Given the description of an element on the screen output the (x, y) to click on. 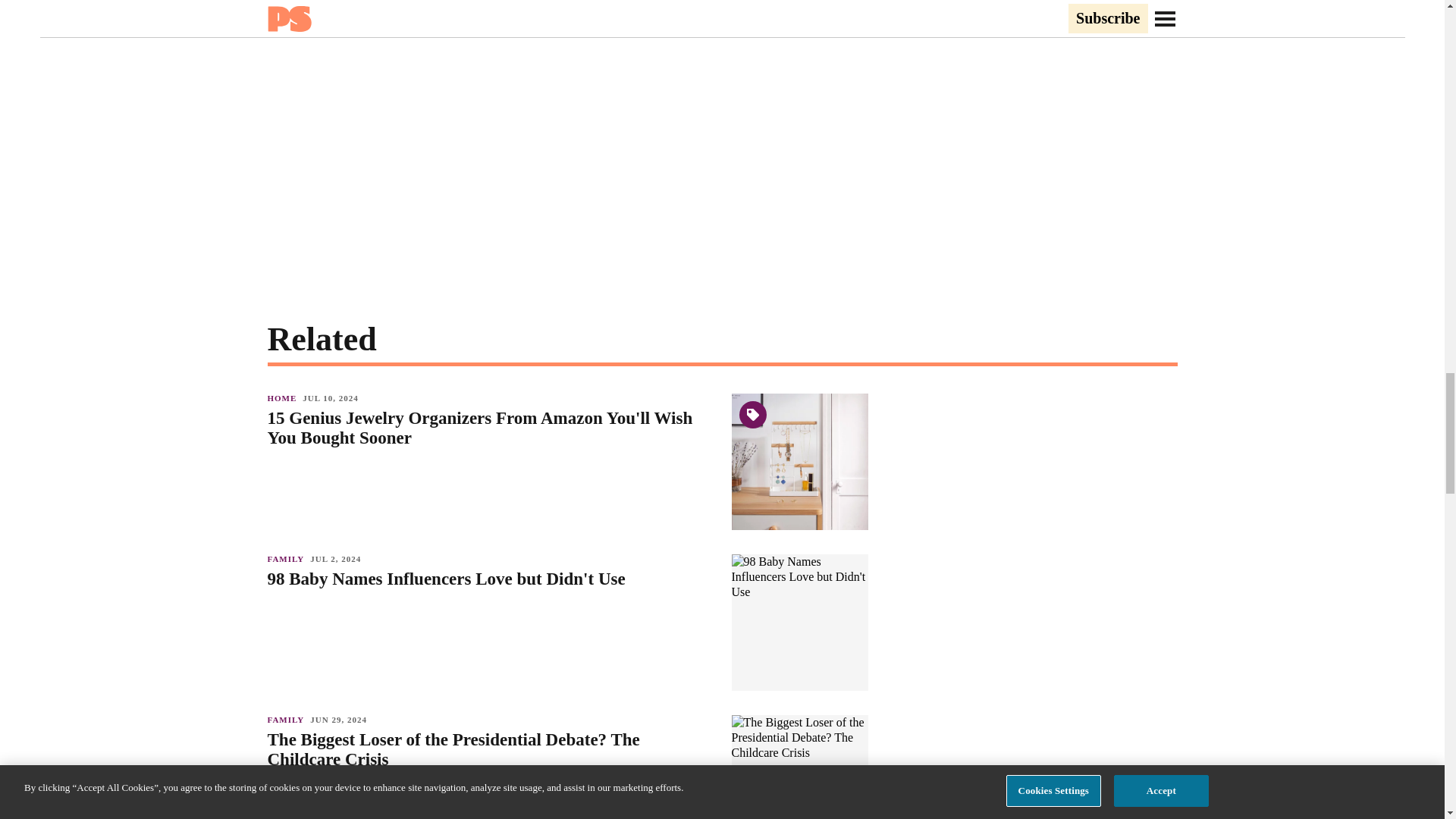
HOME (284, 397)
FAMILY (288, 558)
FAMILY (288, 718)
98 Baby Names Influencers Love but Didn't Use (491, 578)
